Given the description of an element on the screen output the (x, y) to click on. 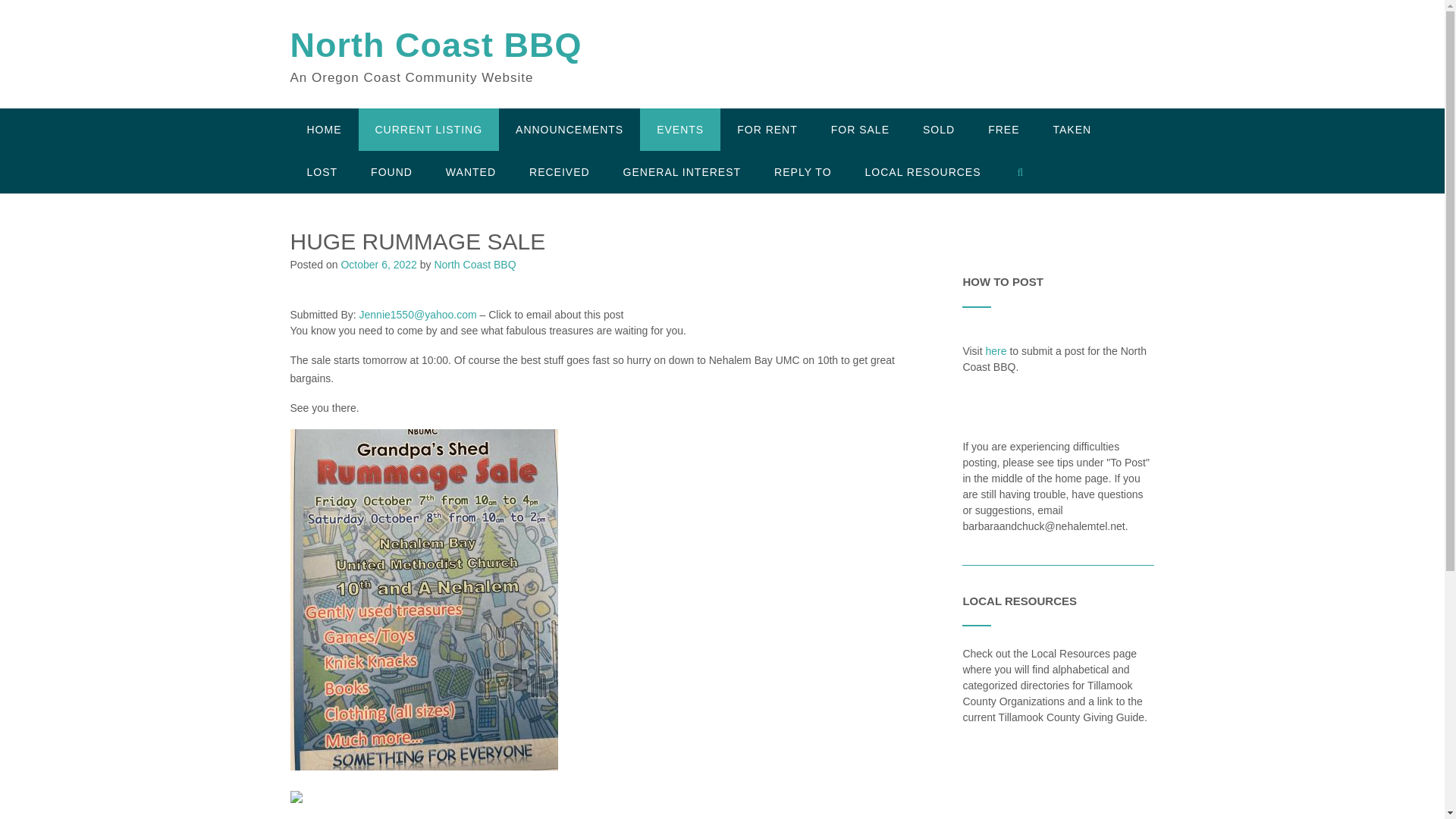
SOLD (938, 129)
here (996, 349)
North Coast BBQ (434, 45)
LOCAL RESOURCES (922, 171)
FOR SALE (859, 129)
FREE (1003, 129)
FOUND (391, 171)
HOME (323, 129)
North Coast BBQ (434, 45)
WANTED (470, 171)
REPLY TO (802, 171)
CURRENT LISTING (428, 129)
TAKEN (1071, 129)
ANNOUNCEMENTS (569, 129)
RECEIVED (559, 171)
